Given the description of an element on the screen output the (x, y) to click on. 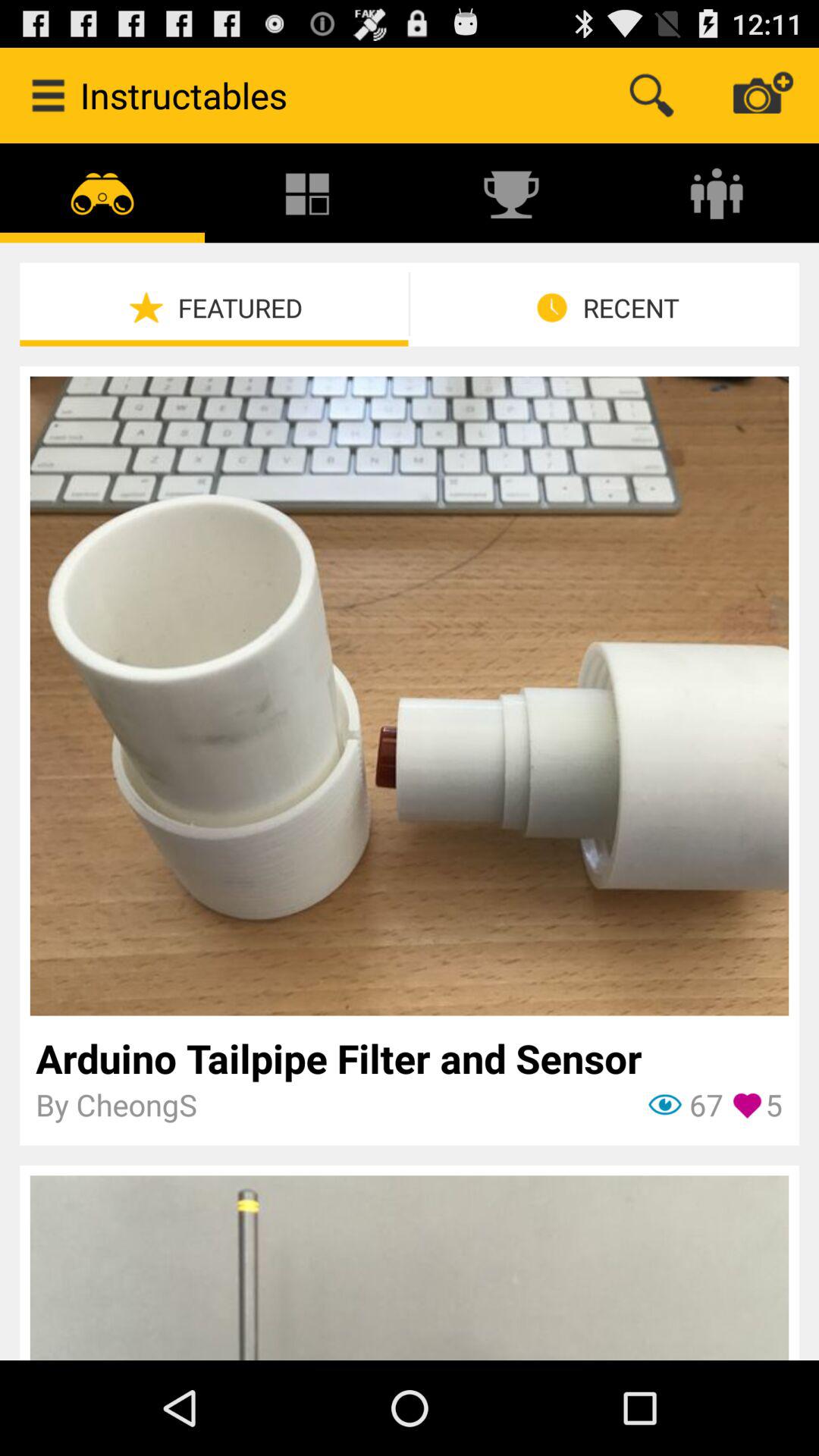
open the item above the featured item (511, 192)
